Given the description of an element on the screen output the (x, y) to click on. 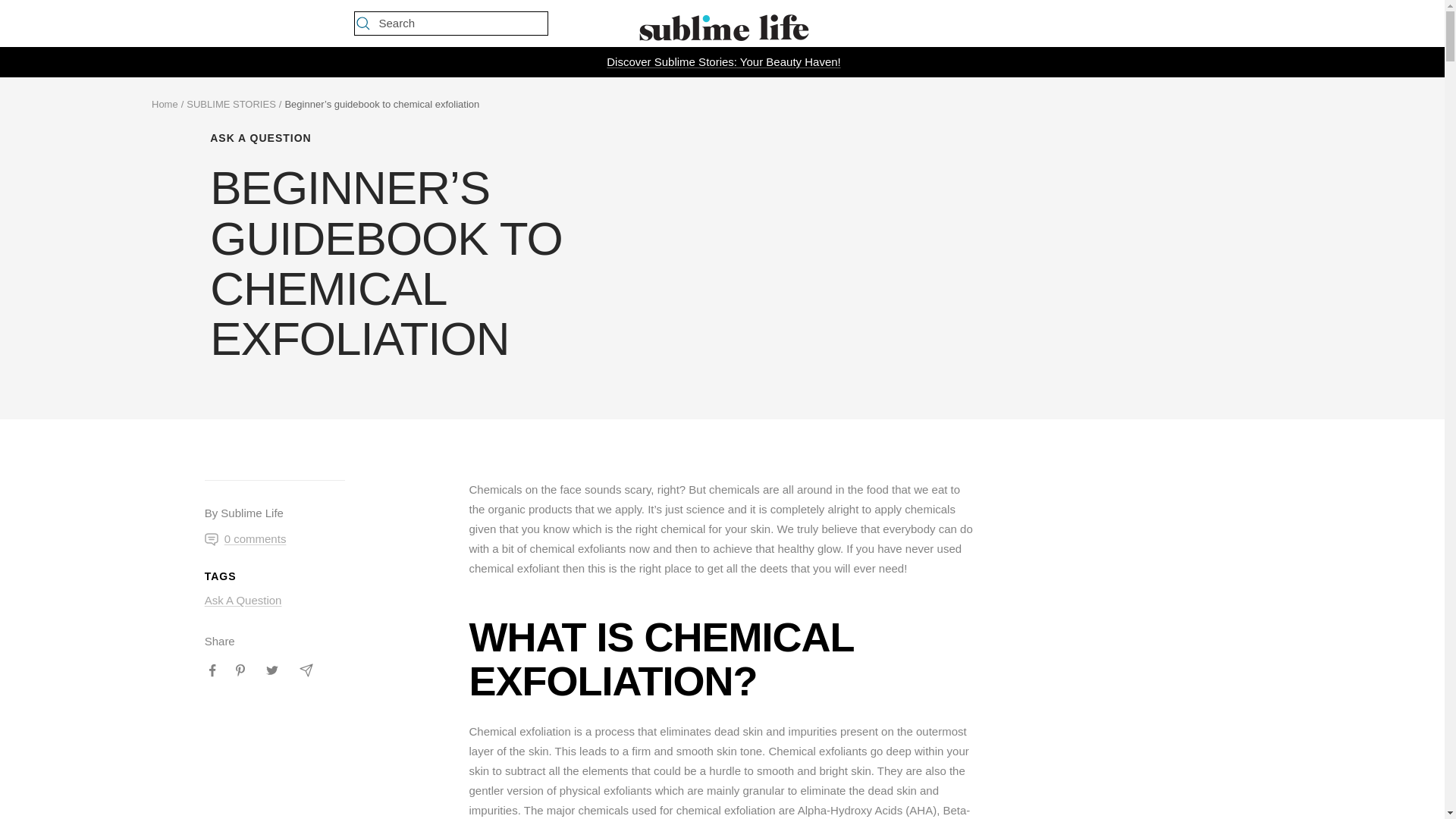
Home (164, 103)
Discover Sublime Stories: Your Beauty Haven! (724, 62)
Ask A Question (243, 599)
Sublime Life (721, 23)
0 comments (245, 538)
ASK A QUESTION (438, 137)
SUBLIME STORIES (231, 103)
